Given the description of an element on the screen output the (x, y) to click on. 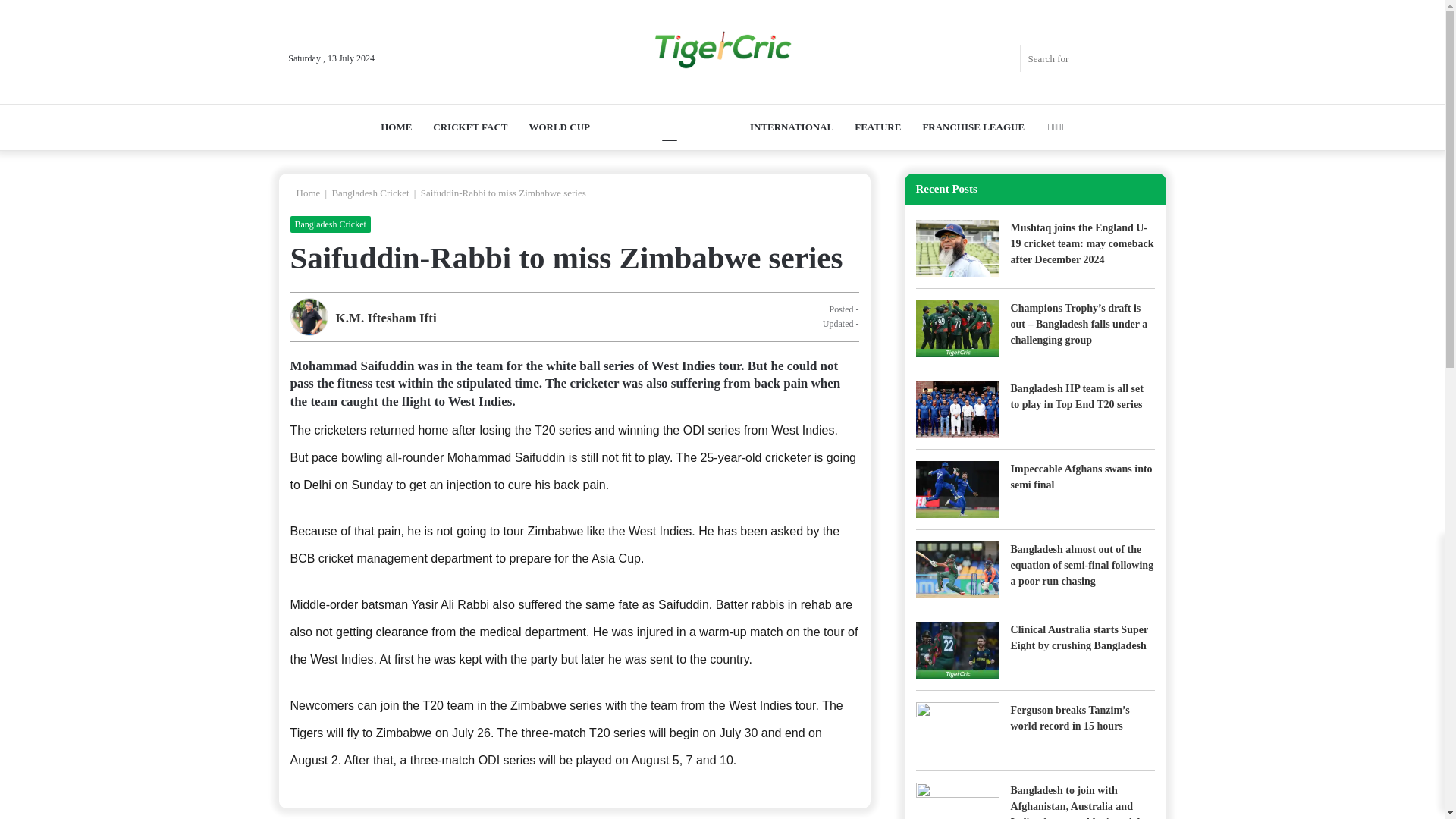
HOME (395, 126)
K.M. Iftesham Ifti (384, 318)
BANGLADESH CRICKET (669, 126)
WORLD CUP (558, 126)
Bangladesh Cricket (329, 224)
Search for (1150, 58)
FRANCHISE LEAGUE (973, 126)
Home (304, 193)
Search for (1093, 58)
CRICKET FACT (470, 126)
INTERNATIONAL (791, 126)
FEATURE (877, 126)
Bangladesh Cricket (370, 193)
